Given the description of an element on the screen output the (x, y) to click on. 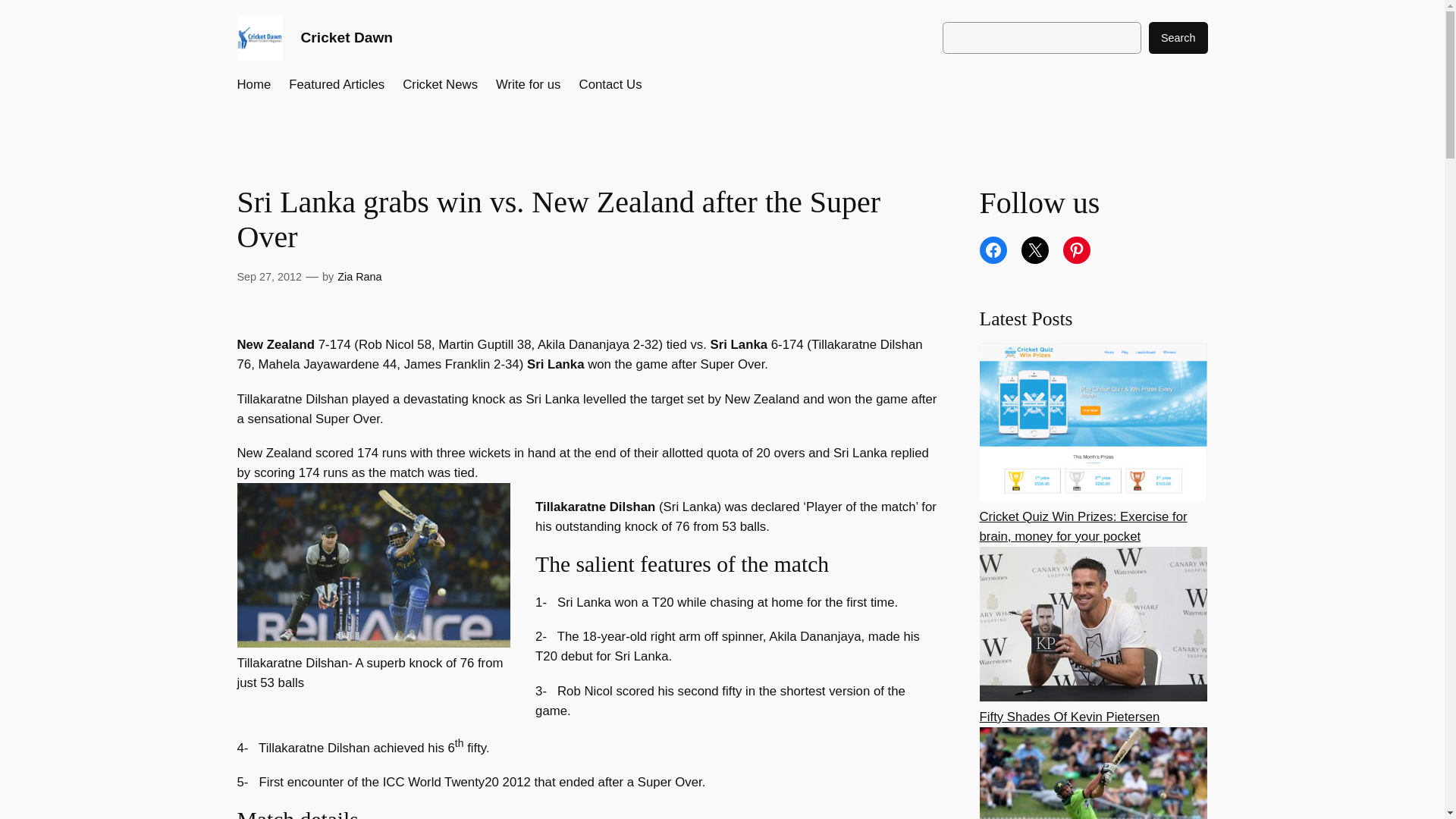
Write for us (528, 85)
Home (252, 85)
Search (1178, 38)
Featured Articles (336, 85)
Zia Rana (359, 276)
Cricket Dawn (346, 37)
Cricket News (440, 85)
X (1035, 249)
Facebook (993, 249)
